Given the description of an element on the screen output the (x, y) to click on. 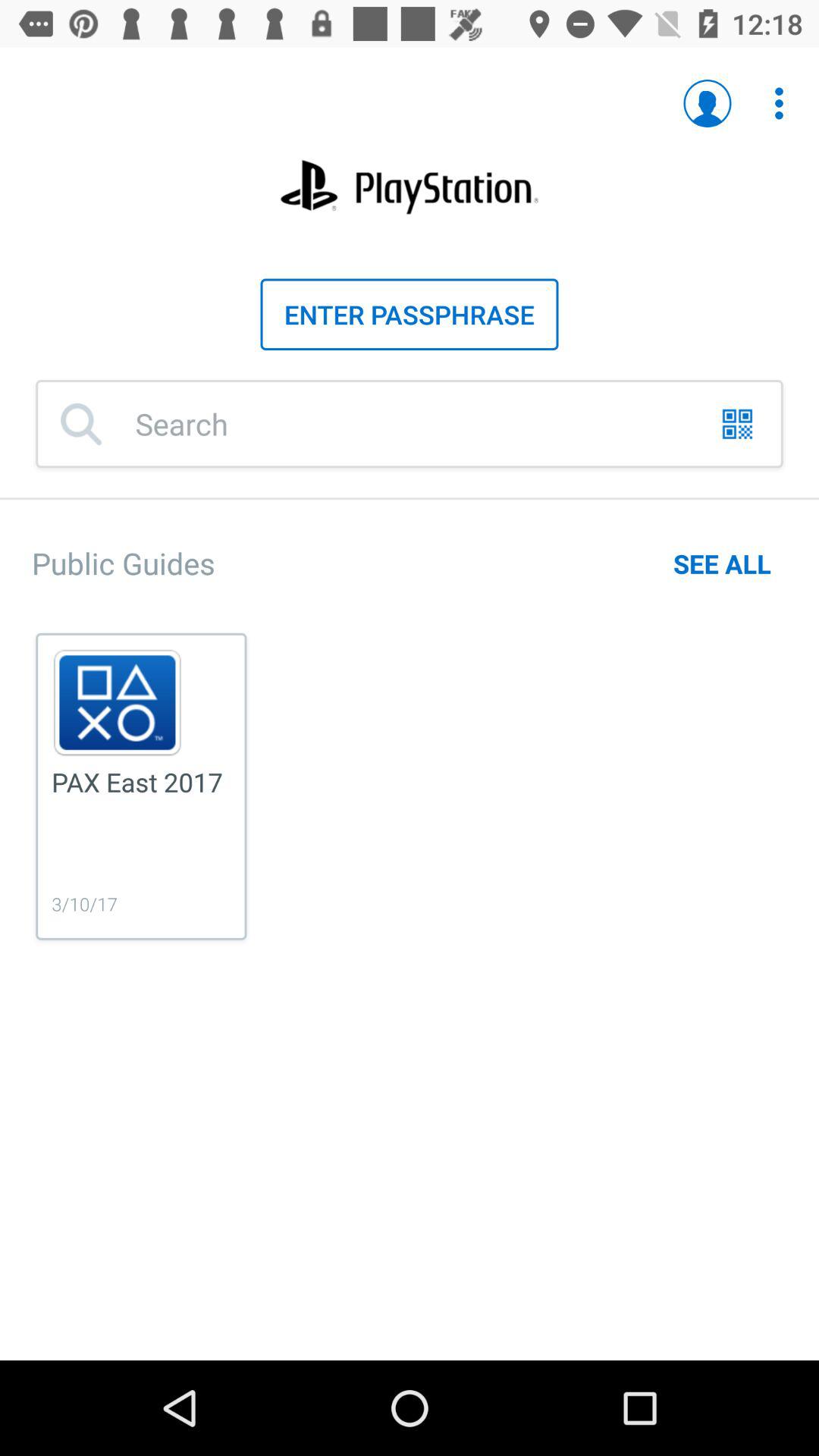
select text field which is below playstation on the page (409, 314)
click on the game launcher icon with text pax east 2017 (141, 786)
select the second icon which is at the top right corner (770, 96)
select the title of the page (409, 186)
click on icon which is at above the see all (737, 424)
go to icon in the top right corner (779, 103)
